Given the description of an element on the screen output the (x, y) to click on. 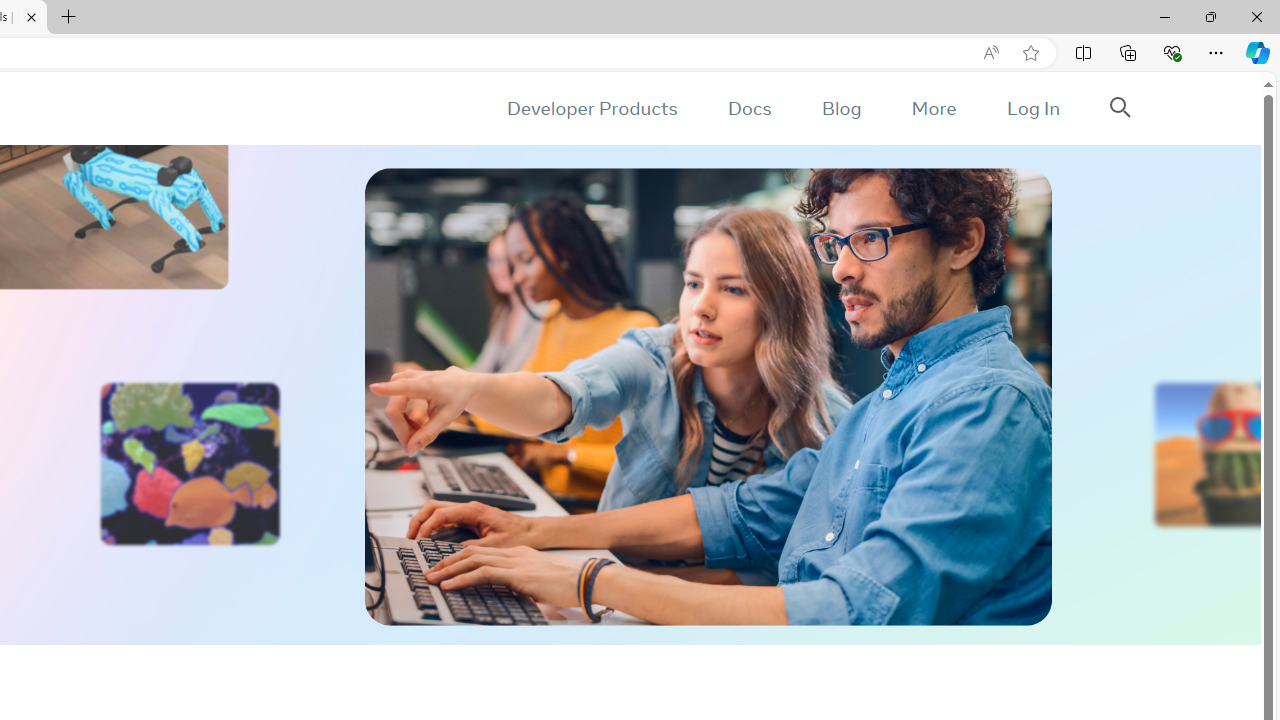
More (933, 108)
Docs (749, 108)
Developer Products (591, 108)
Developer Products (591, 108)
More (933, 108)
Log In (1032, 108)
Log In (1032, 108)
Docs (749, 108)
